Given the description of an element on the screen output the (x, y) to click on. 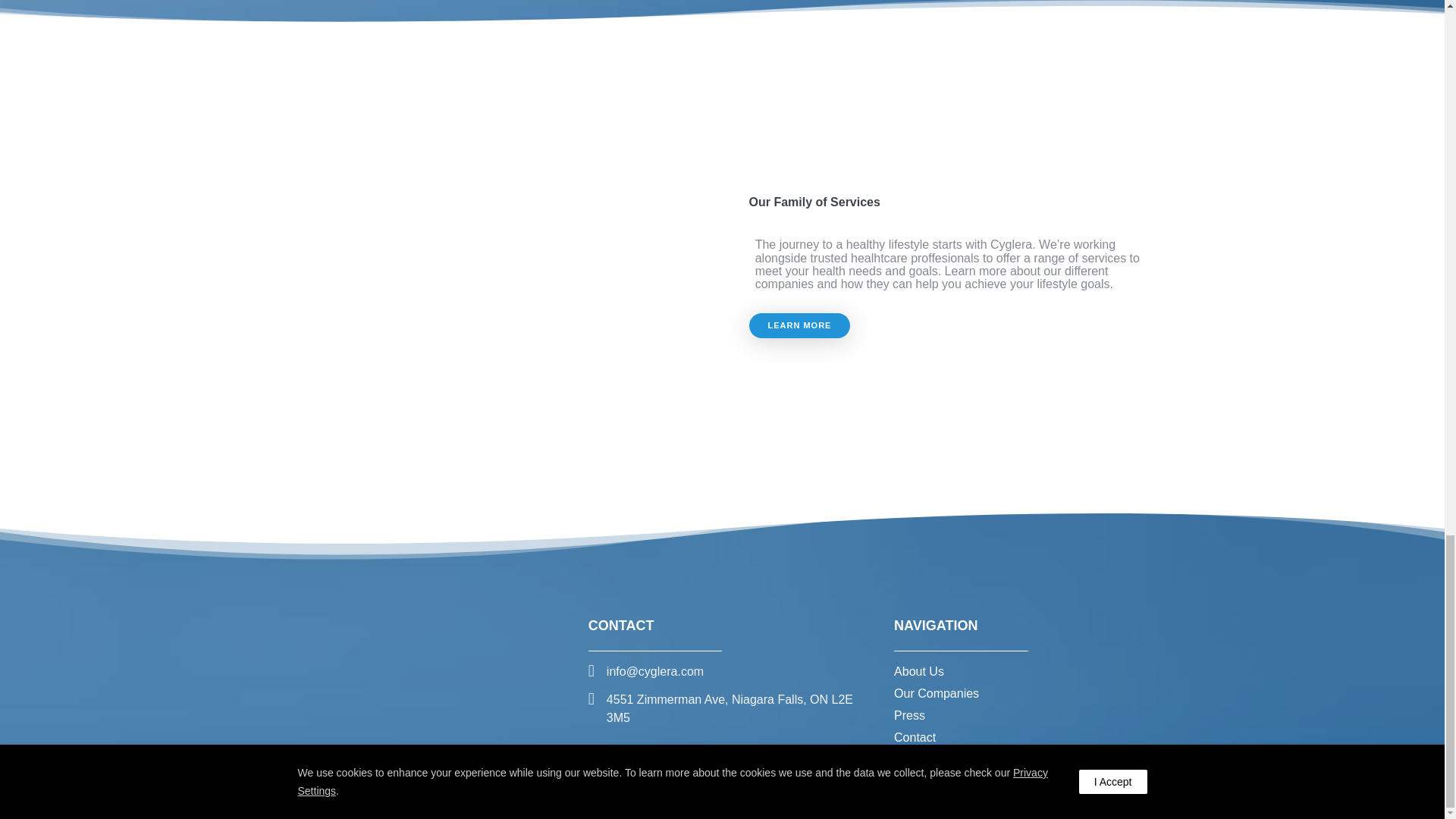
Privacy Policy (837, 784)
Contact (914, 737)
Press (908, 715)
About Us (918, 671)
About Us (918, 671)
LEARN MORE (799, 325)
Press (908, 715)
Our Companies (935, 693)
Our Companies (935, 693)
Contact (914, 737)
